Given the description of an element on the screen output the (x, y) to click on. 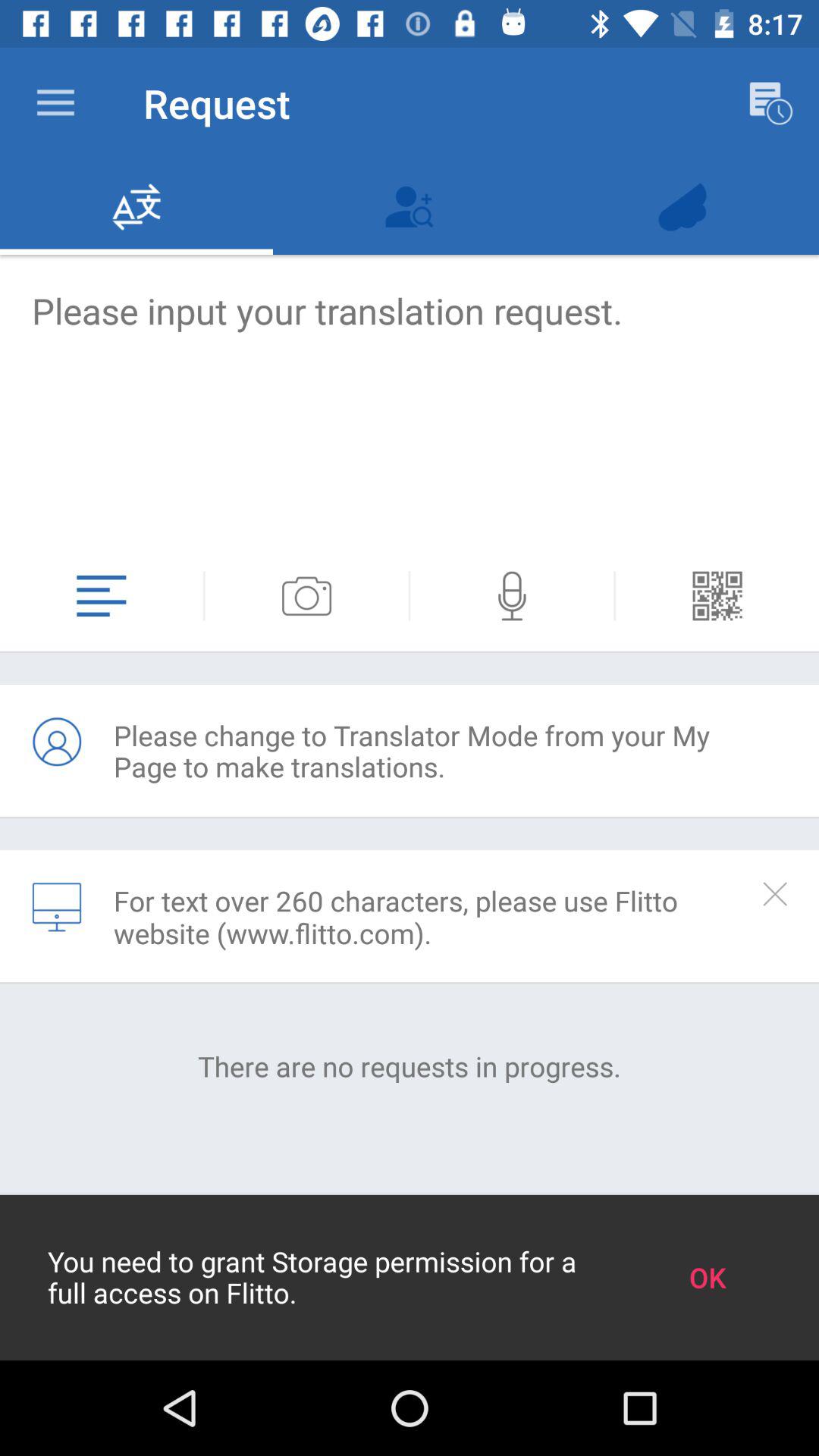
tap the item above the you need to (409, 1066)
